Given the description of an element on the screen output the (x, y) to click on. 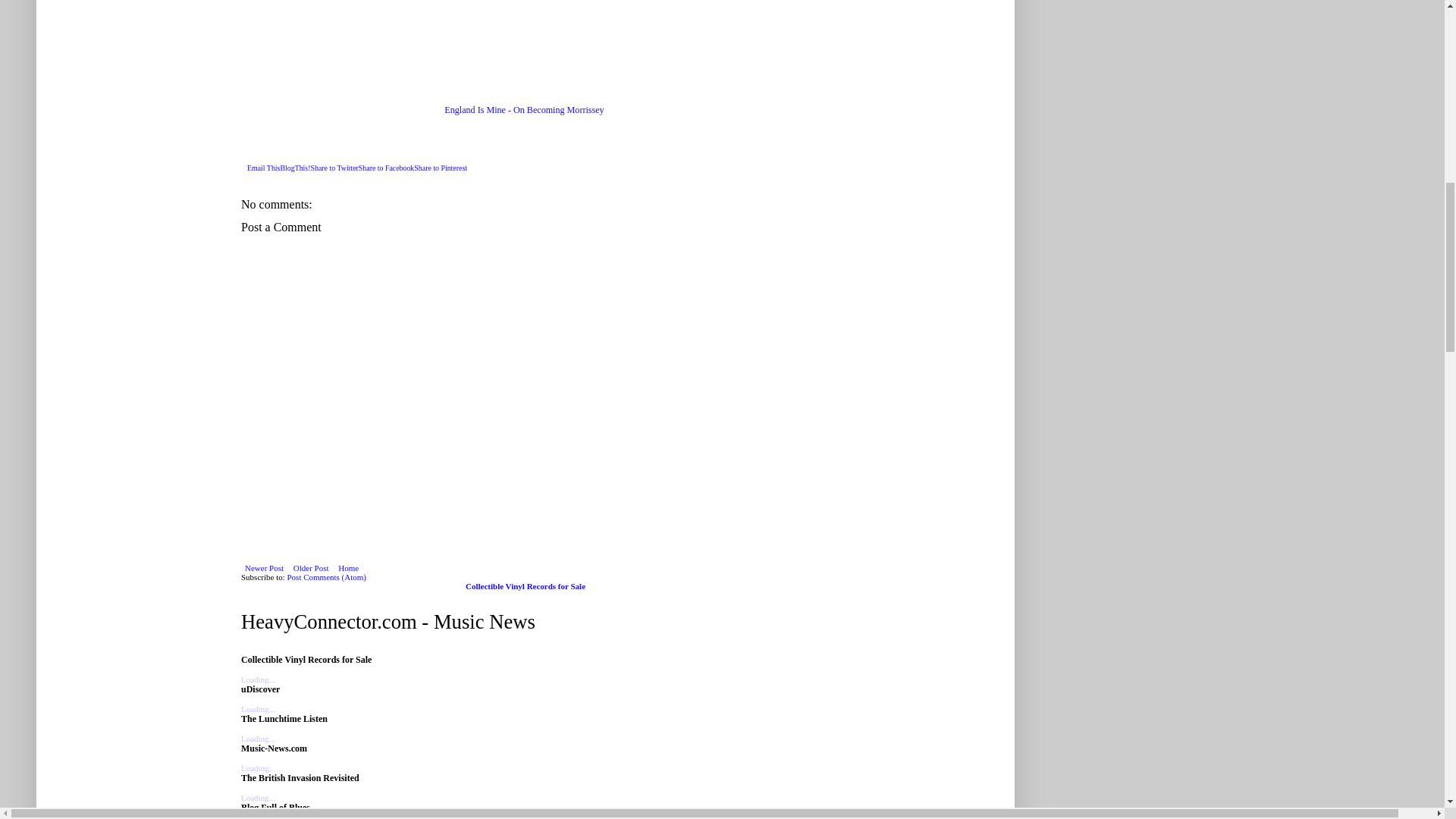
Share to Twitter (334, 167)
Collectible Vinyl Records for Sale (525, 585)
Home (348, 567)
Loading... (258, 797)
Share to Facebook (386, 167)
Email This (263, 167)
Share to Pinterest (440, 167)
Older Post (311, 567)
Loading... (258, 768)
Share to Pinterest (440, 167)
Older Post (311, 567)
Newer Post (263, 567)
Loading... (258, 678)
Share to Facebook (386, 167)
Newer Post (263, 567)
